Given the description of an element on the screen output the (x, y) to click on. 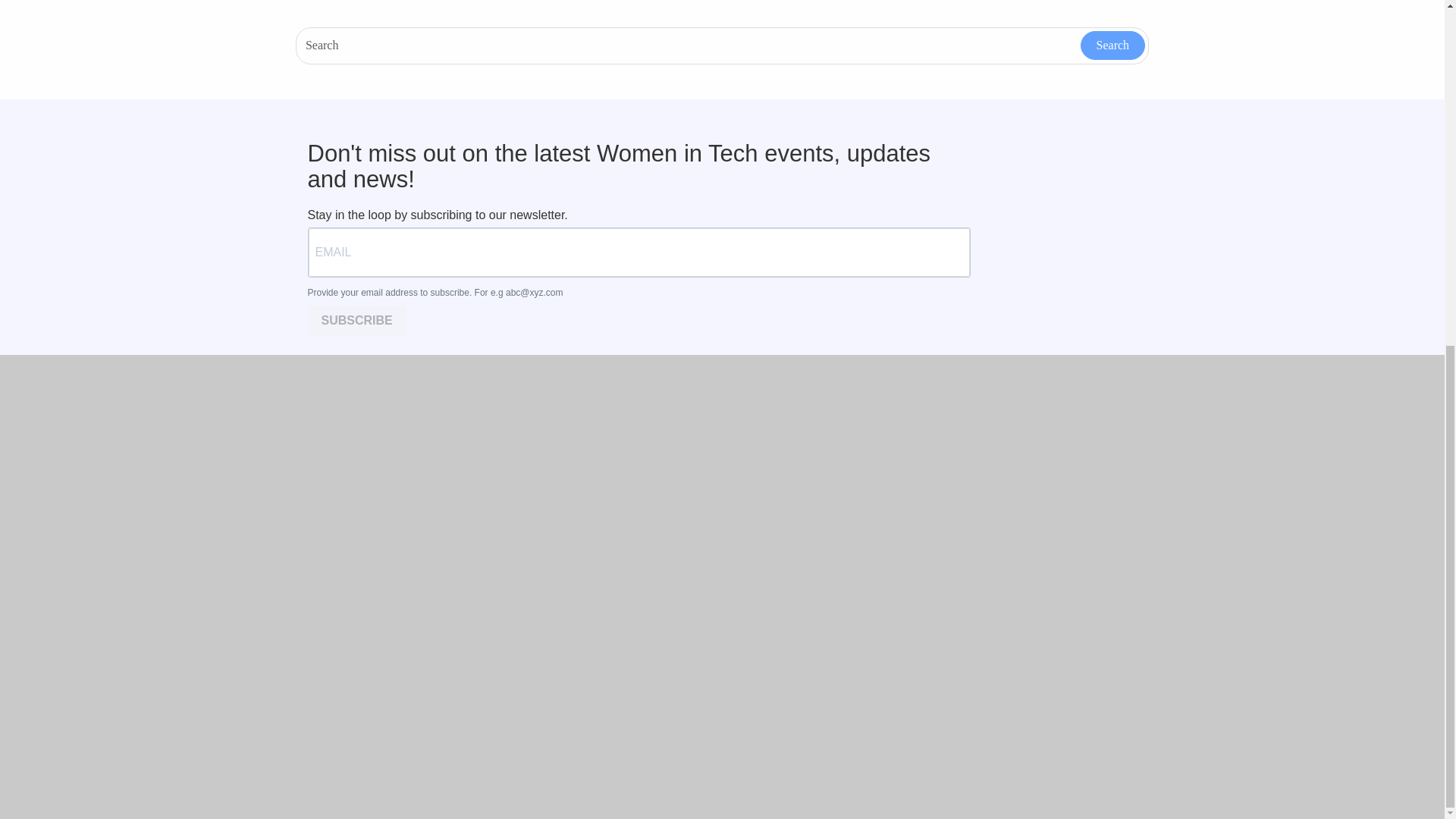
Search (1112, 45)
